Given the description of an element on the screen output the (x, y) to click on. 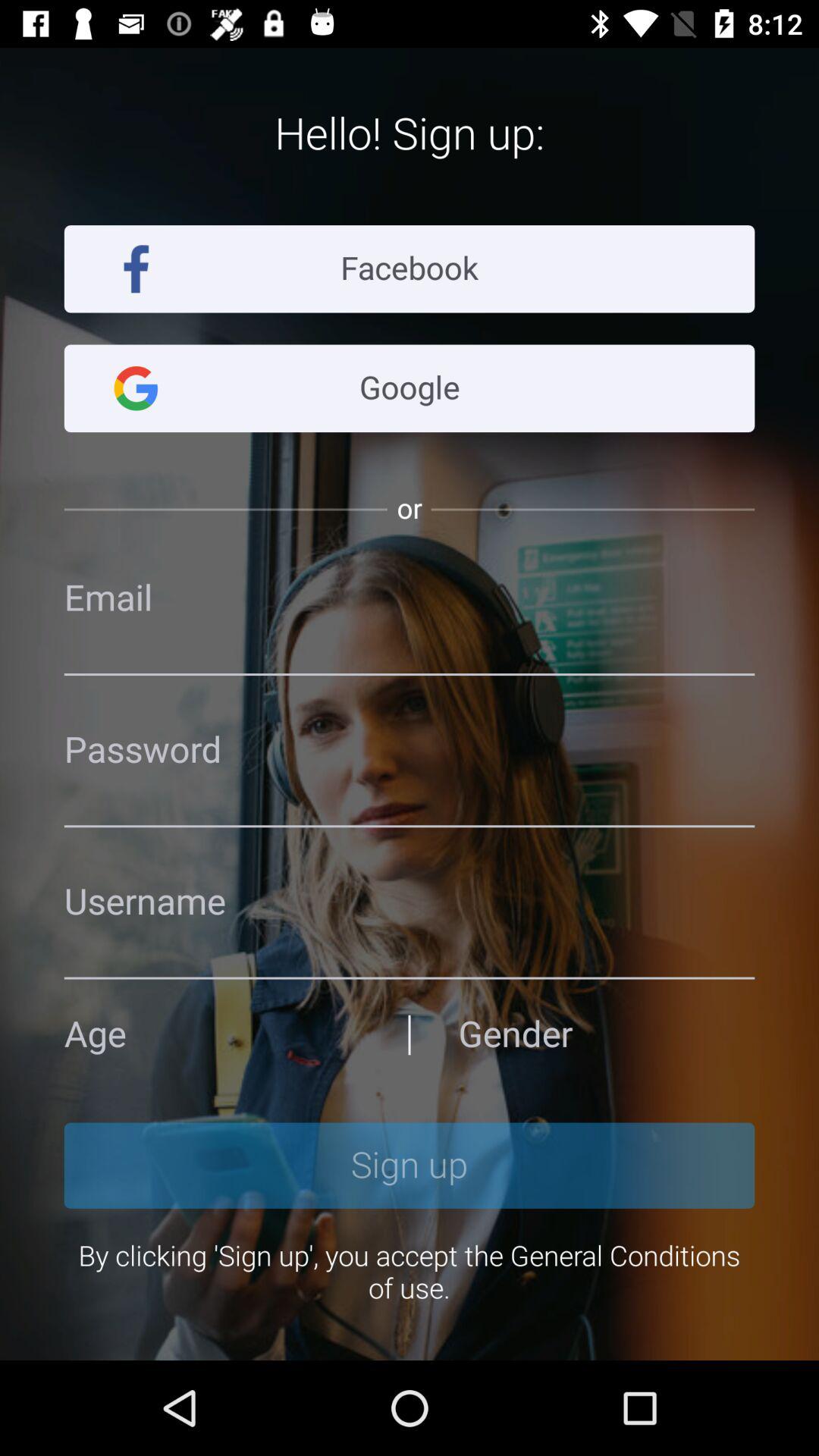
write your email (409, 598)
